Given the description of an element on the screen output the (x, y) to click on. 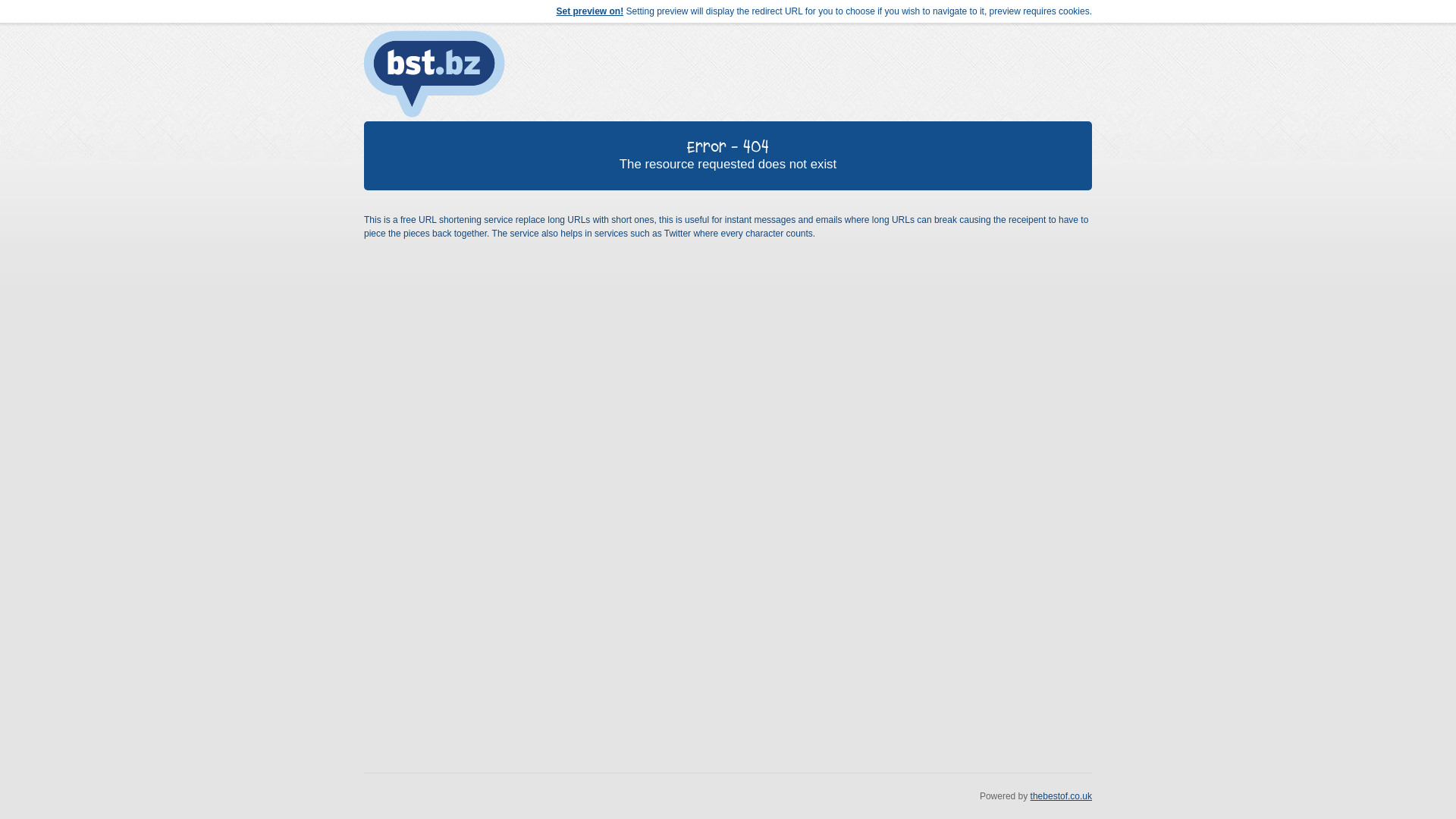
Set preview on! Element type: text (589, 11)
bst.bz Element type: text (434, 73)
thebestof.co.uk Element type: text (1061, 795)
